Given the description of an element on the screen output the (x, y) to click on. 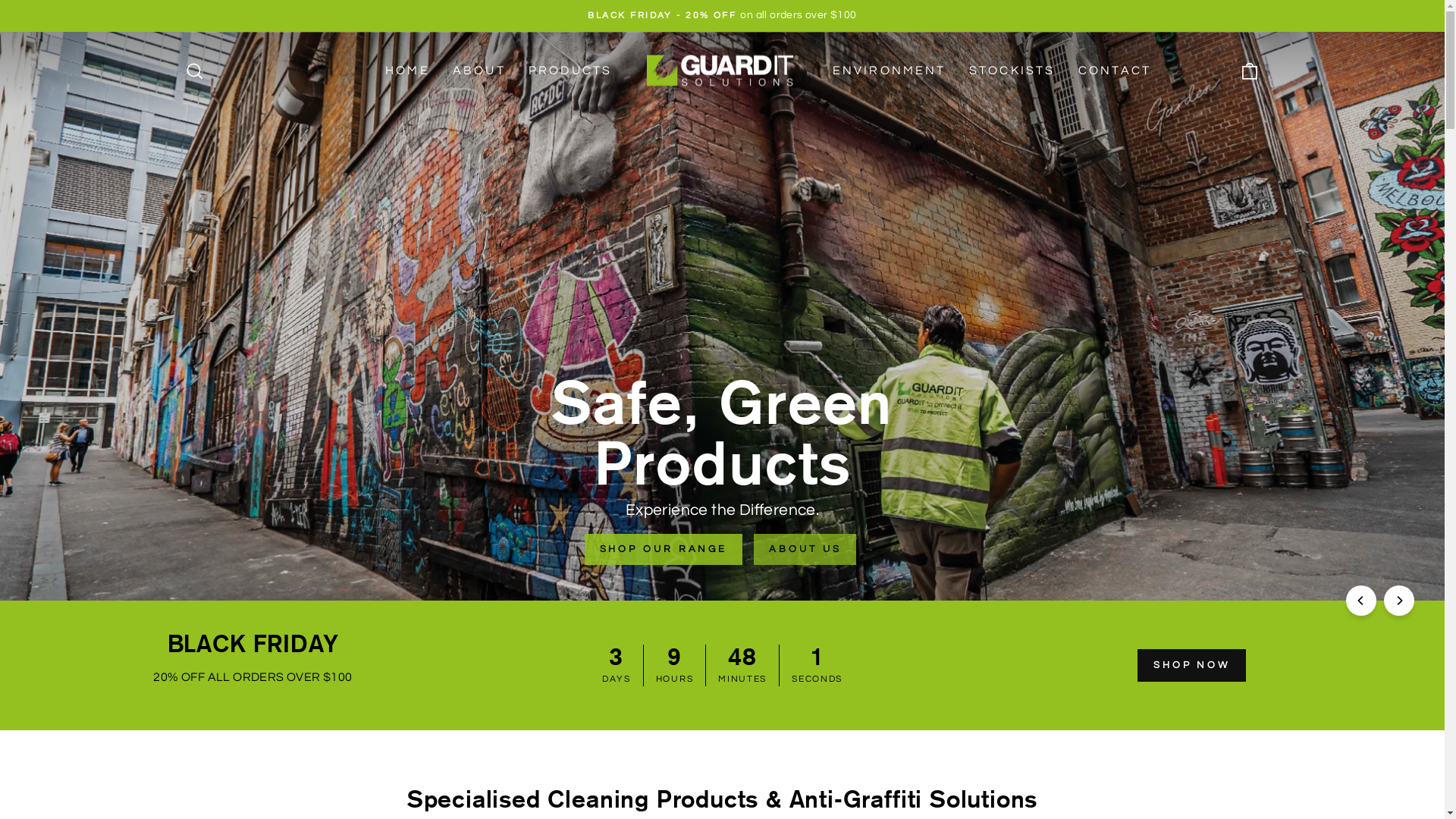
ABOUT Element type: text (479, 71)
HOME Element type: text (407, 71)
CART Element type: text (1249, 71)
CONTACT Element type: text (1114, 71)
STOCKISTS Element type: text (1011, 71)
SEARCH Element type: text (193, 71)
SHOP NOW Element type: text (1191, 664)
ENVIRONMENT Element type: text (888, 71)
PRODUCTS Element type: text (570, 71)
